Given the description of an element on the screen output the (x, y) to click on. 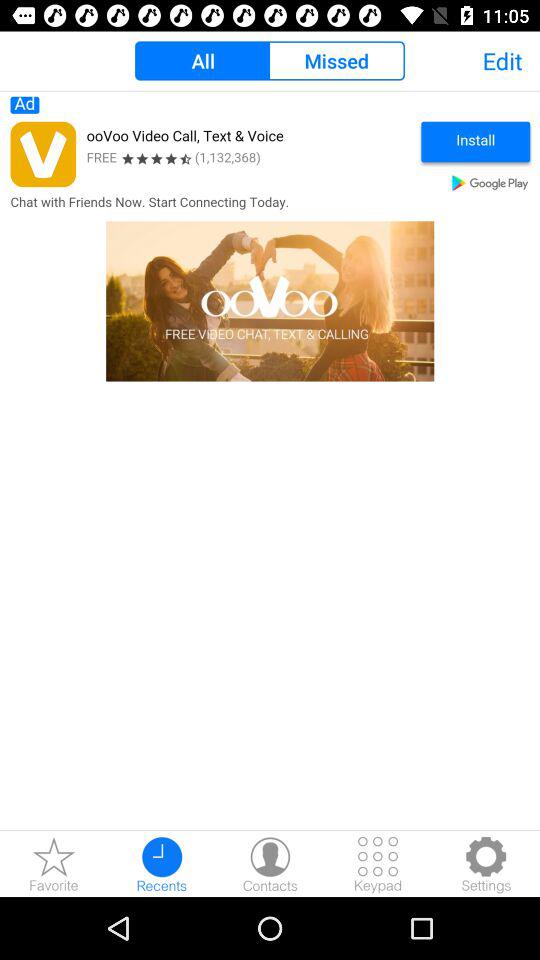
contacts button (269, 864)
